Given the description of an element on the screen output the (x, y) to click on. 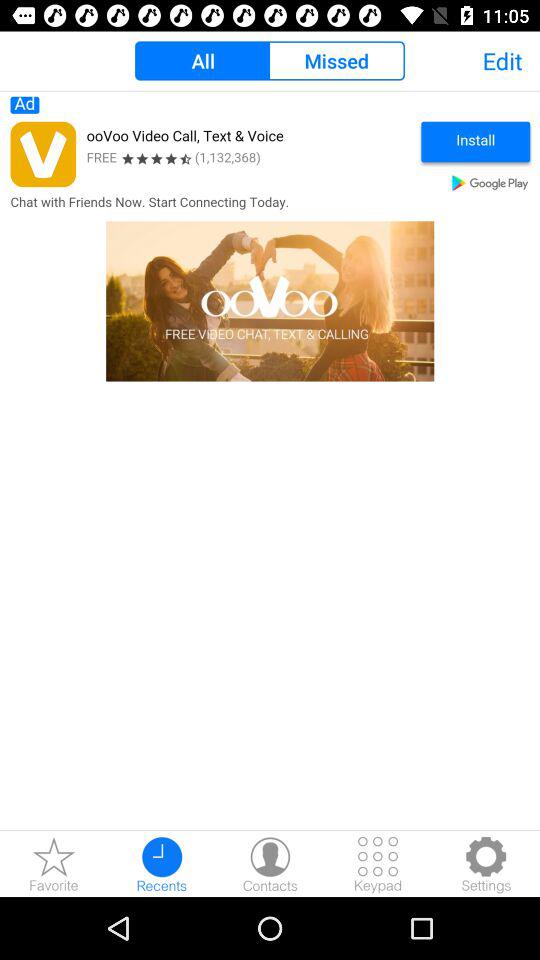
contacts button (269, 864)
